Given the description of an element on the screen output the (x, y) to click on. 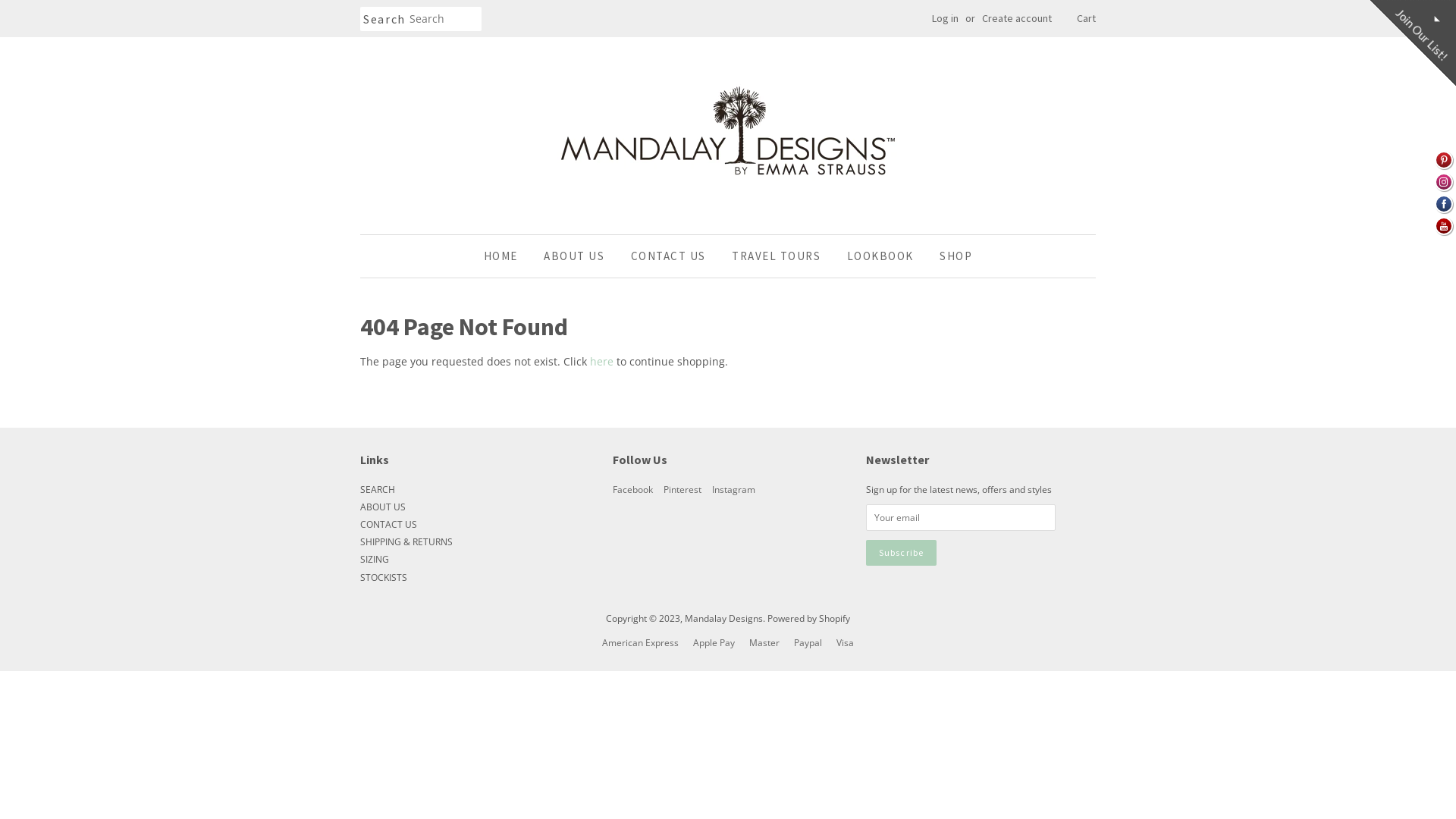
Cart Element type: text (1085, 18)
SEARCH Element type: text (377, 489)
TRAVEL TOURS Element type: text (775, 256)
STOCKISTS Element type: text (383, 577)
Create account Element type: text (1016, 18)
Mandalay Designs Element type: text (723, 617)
Instagram Element type: text (733, 489)
ABOUT US Element type: text (382, 506)
CONTACT US Element type: text (388, 523)
Facebook Element type: text (632, 489)
HOME Element type: text (506, 256)
SHOP Element type: text (950, 256)
Search Element type: text (384, 18)
CONTACT US Element type: text (668, 256)
SIZING Element type: text (374, 558)
LOOKBOOK Element type: text (880, 256)
Pinterest Element type: text (682, 489)
Log in Element type: text (944, 18)
Powered by Shopify Element type: text (808, 617)
here Element type: text (601, 361)
SHIPPING & RETURNS Element type: text (406, 541)
Subscribe Element type: text (901, 552)
ABOUT US Element type: text (573, 256)
